Given the description of an element on the screen output the (x, y) to click on. 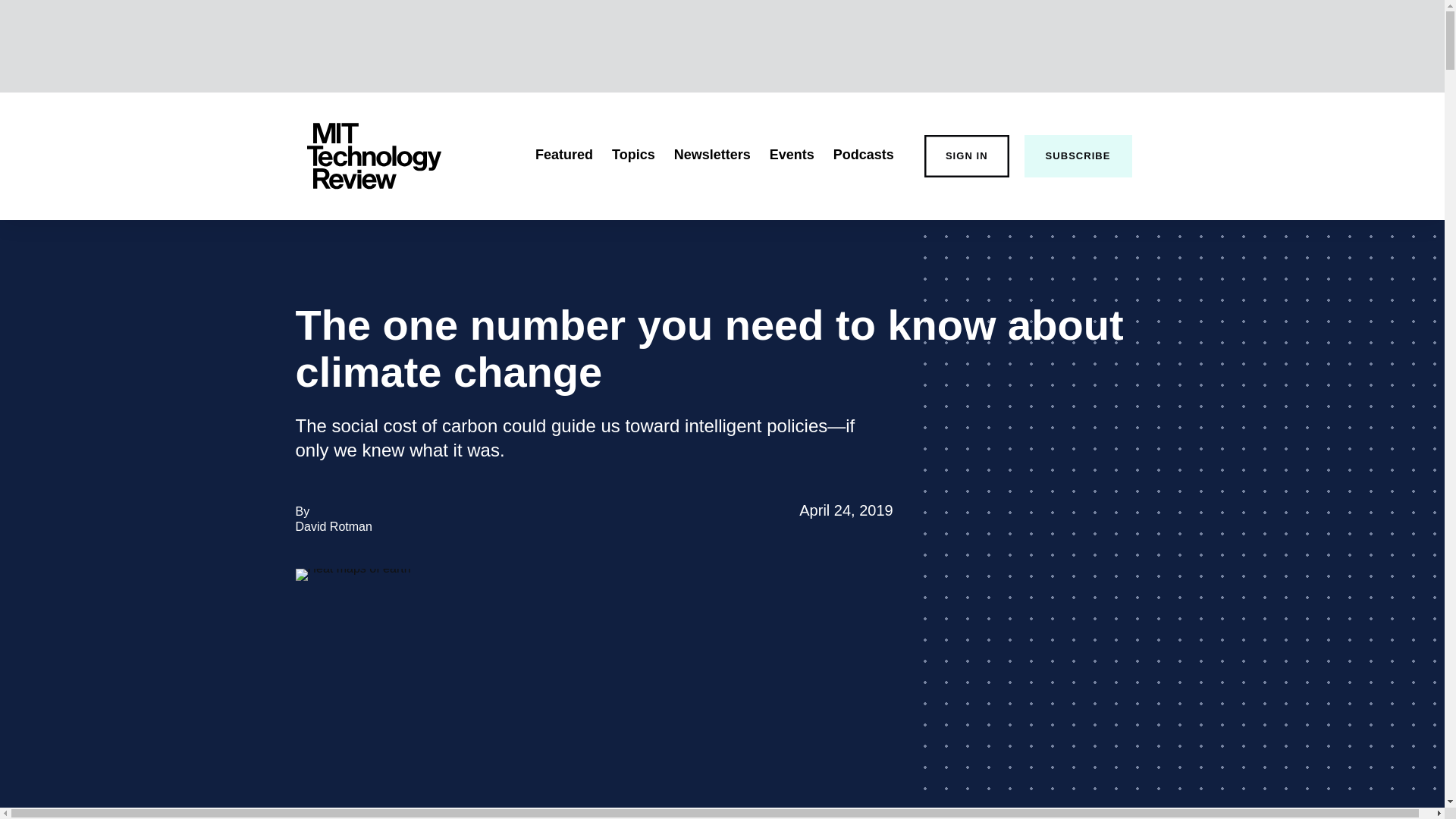
MIT Technology Review (373, 155)
Events (791, 154)
Newsletters (712, 154)
Topics (333, 526)
Podcasts (633, 154)
SUBSCRIBE (862, 154)
SIGN IN (1078, 156)
Featured (966, 156)
